Given the description of an element on the screen output the (x, y) to click on. 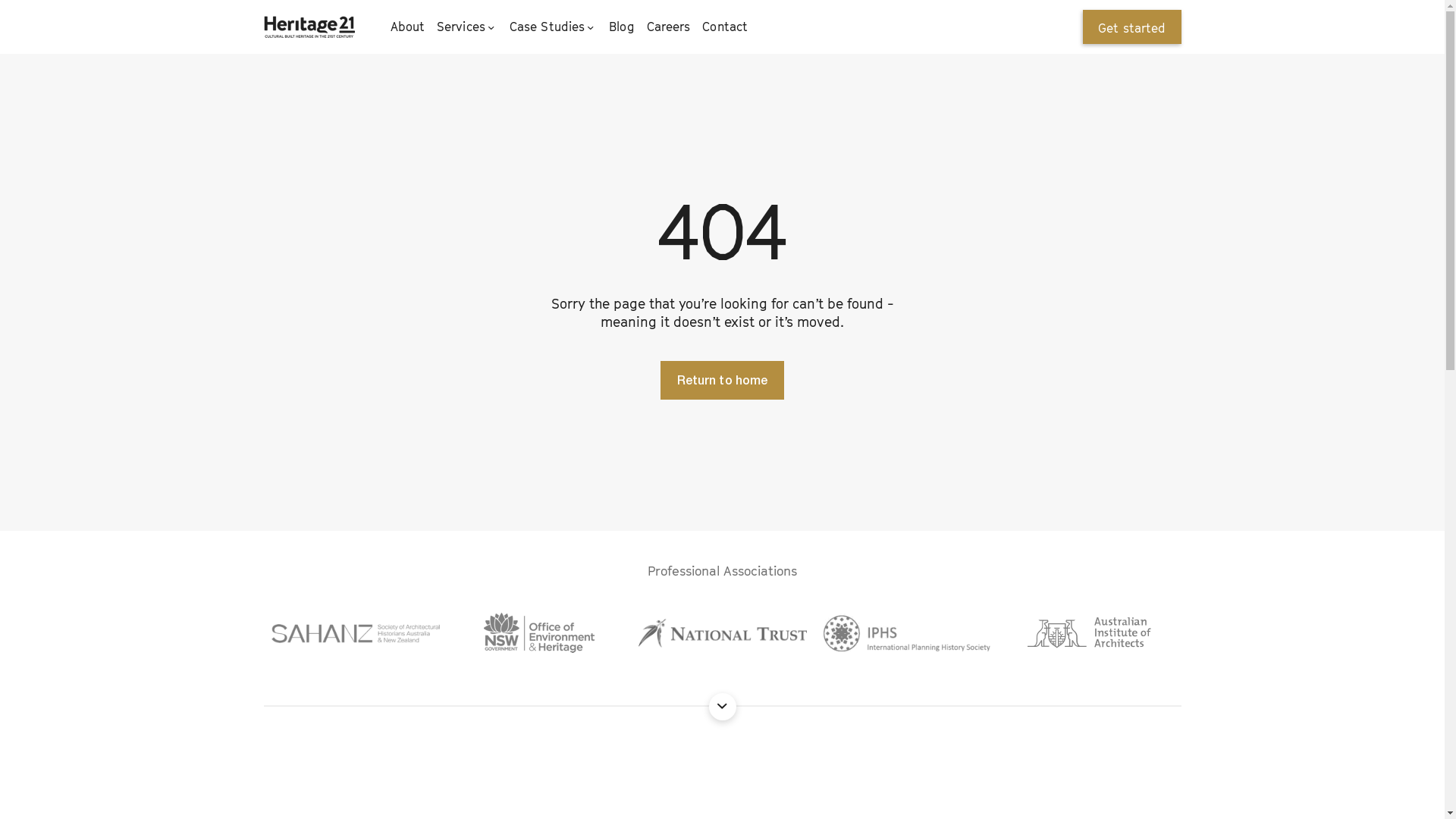
Get started Element type: text (1131, 26)
Services Element type: text (466, 27)
About Element type: text (406, 26)
Case Studies Element type: text (552, 27)
Contact Element type: text (724, 26)
Return to home Element type: text (722, 379)
Careers Element type: text (668, 26)
Blog Element type: text (621, 26)
